Given the description of an element on the screen output the (x, y) to click on. 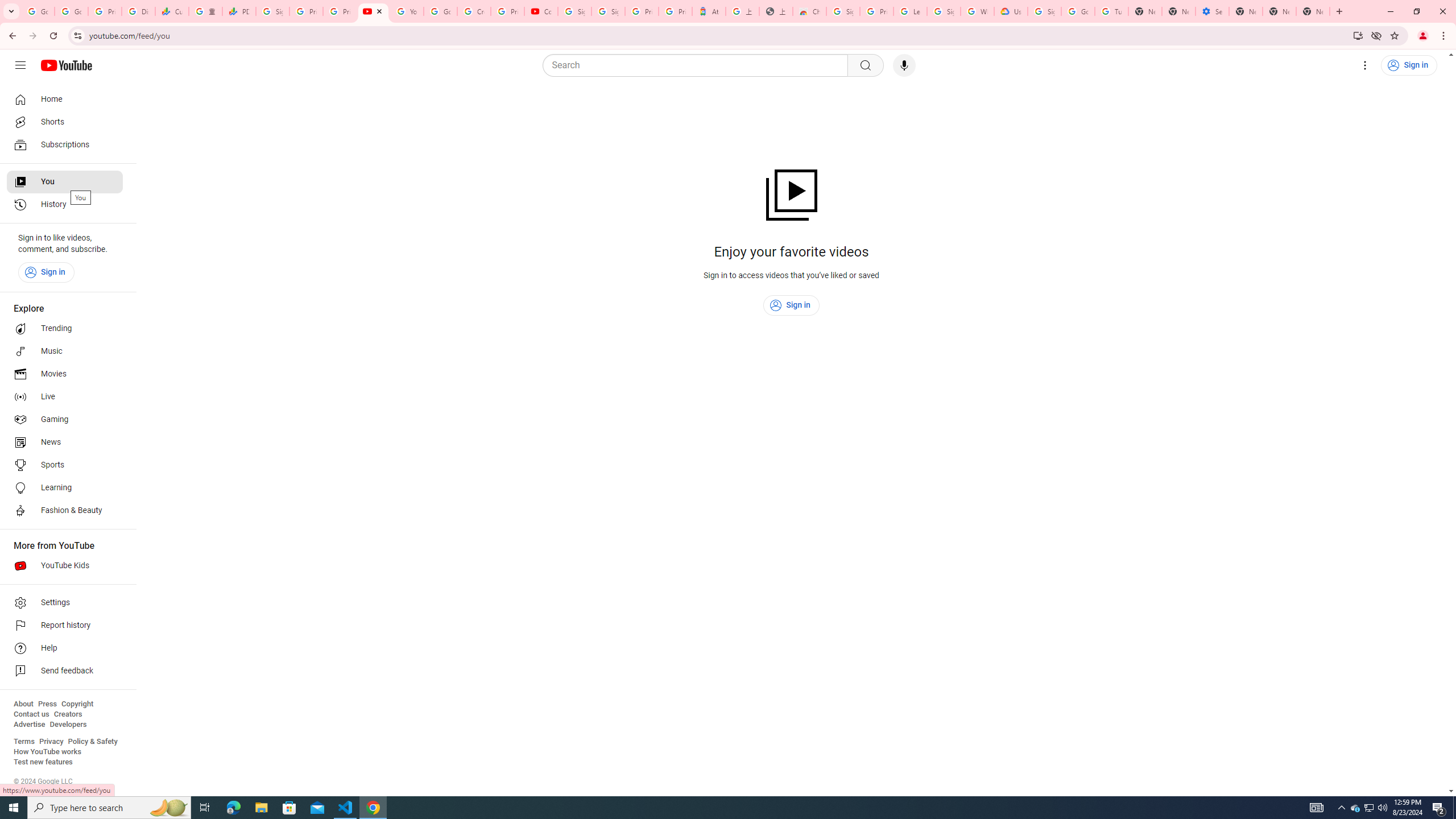
Guide (20, 65)
Google Workspace Admin Community (37, 11)
Sign in - Google Accounts (842, 11)
Library - YouTube (372, 11)
Turn cookies on or off - Computer - Google Account Help (1111, 11)
Advertise (29, 724)
Trending (64, 328)
YouTube Kids (64, 565)
Test new features (42, 761)
